Given the description of an element on the screen output the (x, y) to click on. 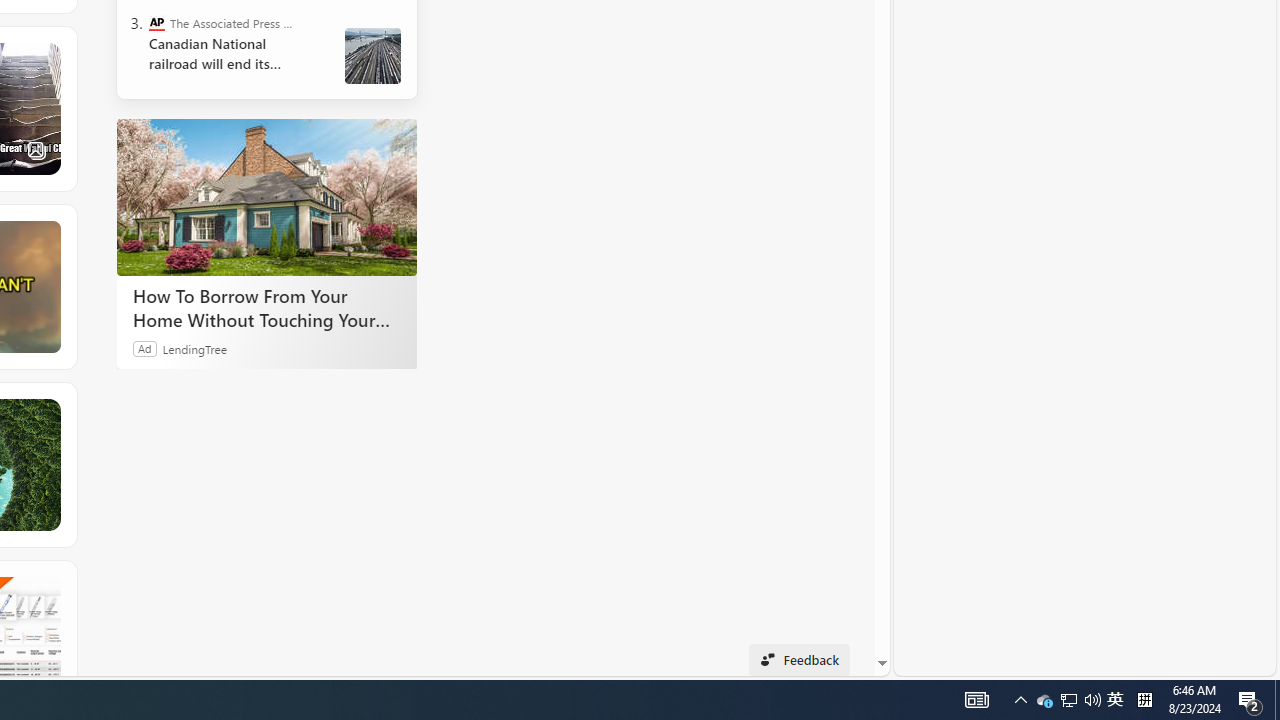
 Canada Railroads Unions (372, 56)
The Associated Press - Business News (156, 22)
